Given the description of an element on the screen output the (x, y) to click on. 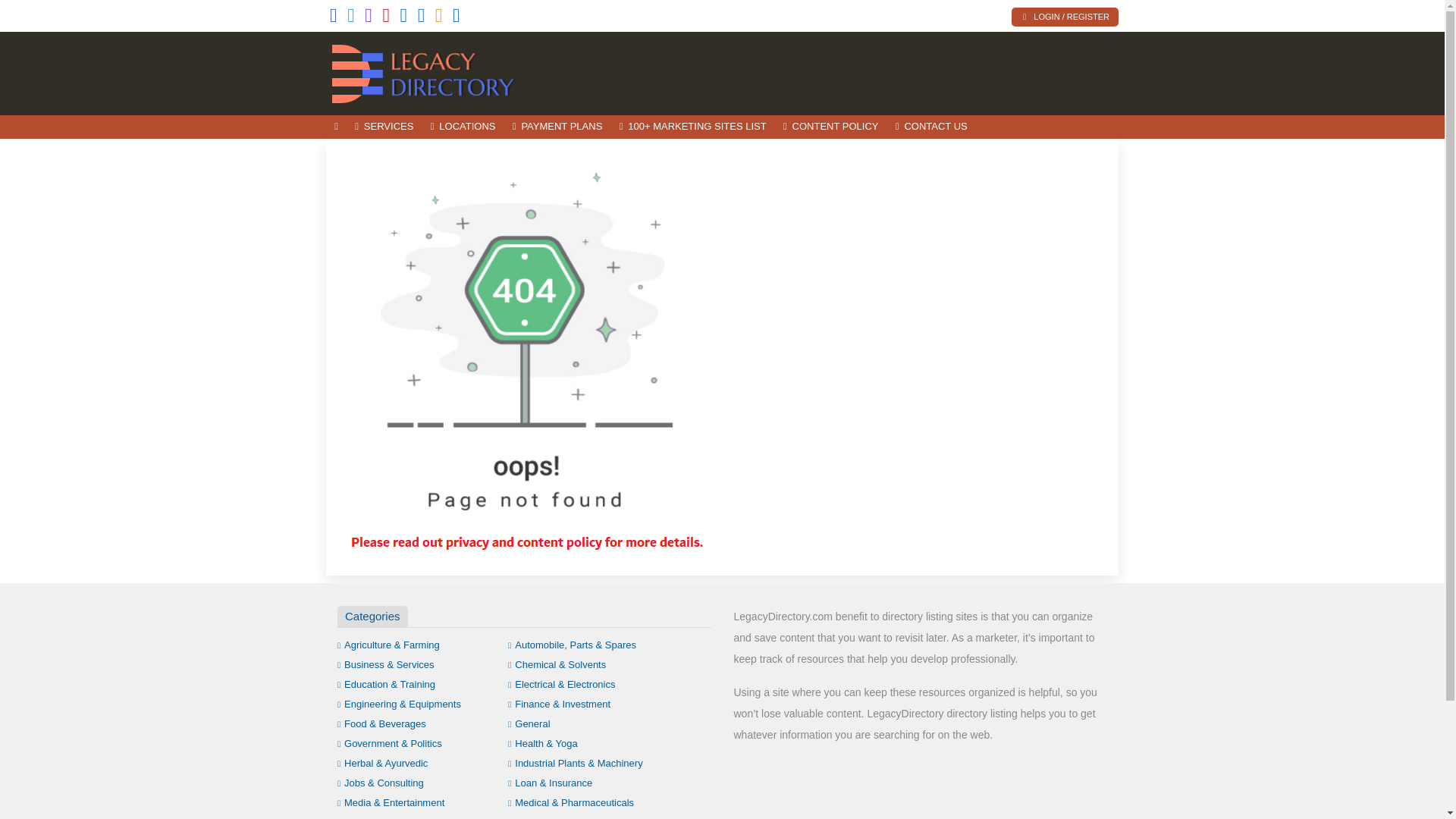
HOME (336, 126)
Pinterest (385, 18)
Facebook (333, 18)
Tumblr (403, 18)
SERVICES (384, 126)
CONTACT US (930, 126)
RSS Feed (438, 18)
Twitter (351, 18)
Linked In (456, 18)
PAYMENT PLANS (557, 126)
General (529, 723)
Instagram (368, 18)
LOCATIONS (462, 126)
CONTENT POLICY (830, 126)
